Given the description of an element on the screen output the (x, y) to click on. 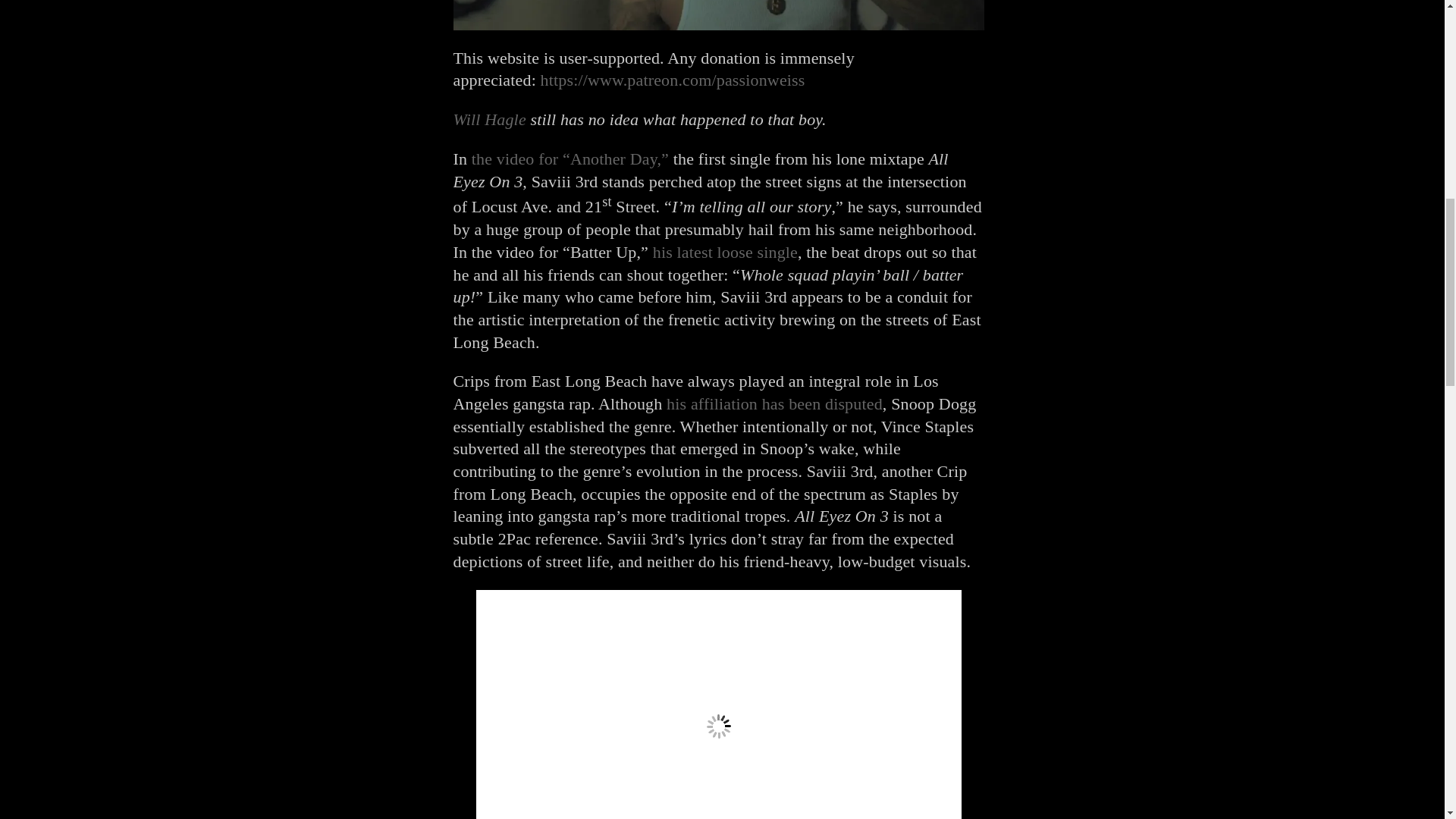
his affiliation has been disputed (774, 403)
Will Hagle (488, 118)
his latest loose single (724, 251)
